Given the description of an element on the screen output the (x, y) to click on. 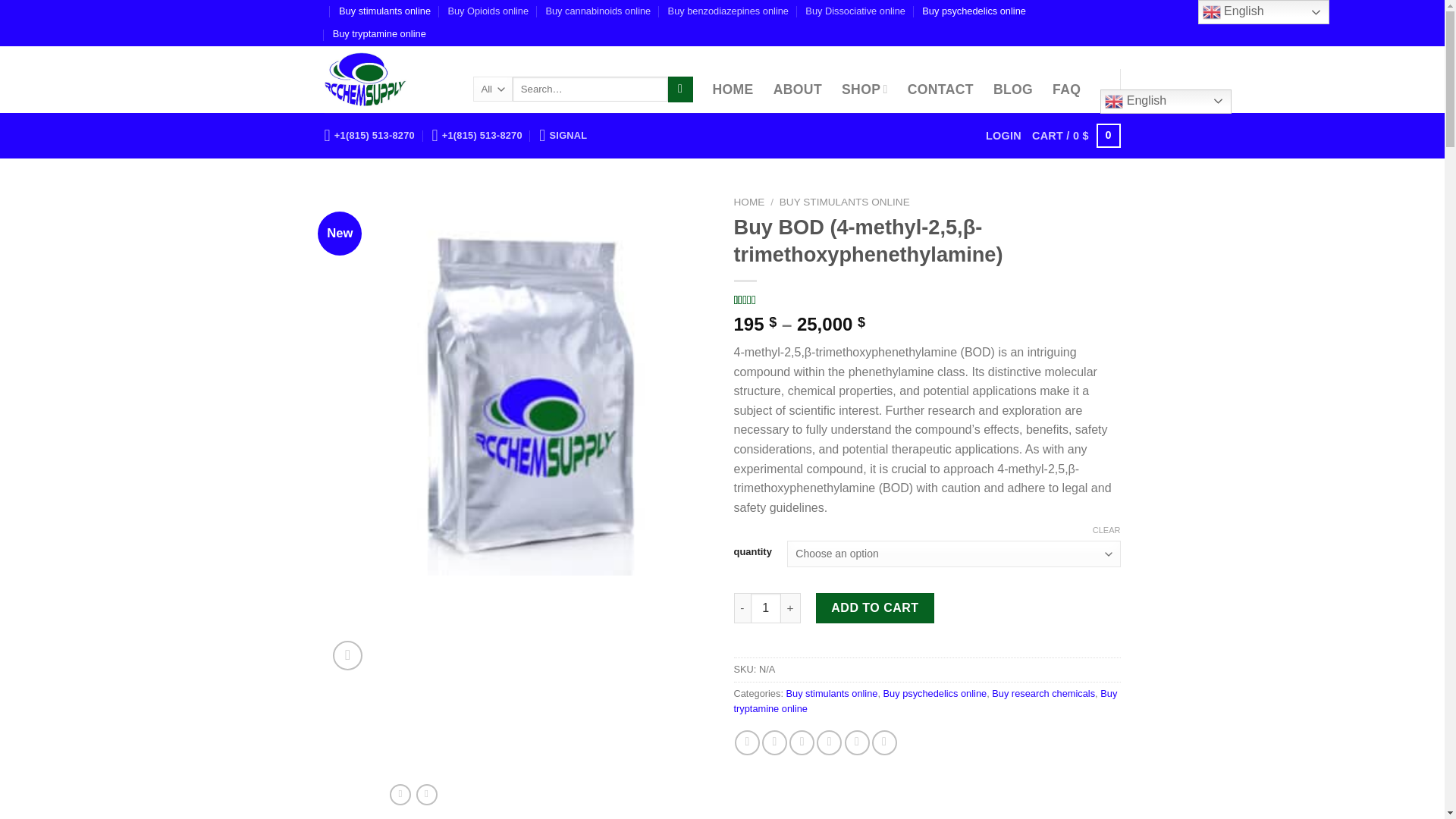
Buy benzodiazepines online (728, 11)
Buy tryptamine online (379, 33)
1 (765, 607)
Buy Opioids online (487, 11)
Buy Dissociative online (855, 11)
Search (680, 89)
Buy psychedelics online (973, 11)
Buy stimulants online (384, 11)
Buy cannabinoids online (597, 11)
